Given the description of an element on the screen output the (x, y) to click on. 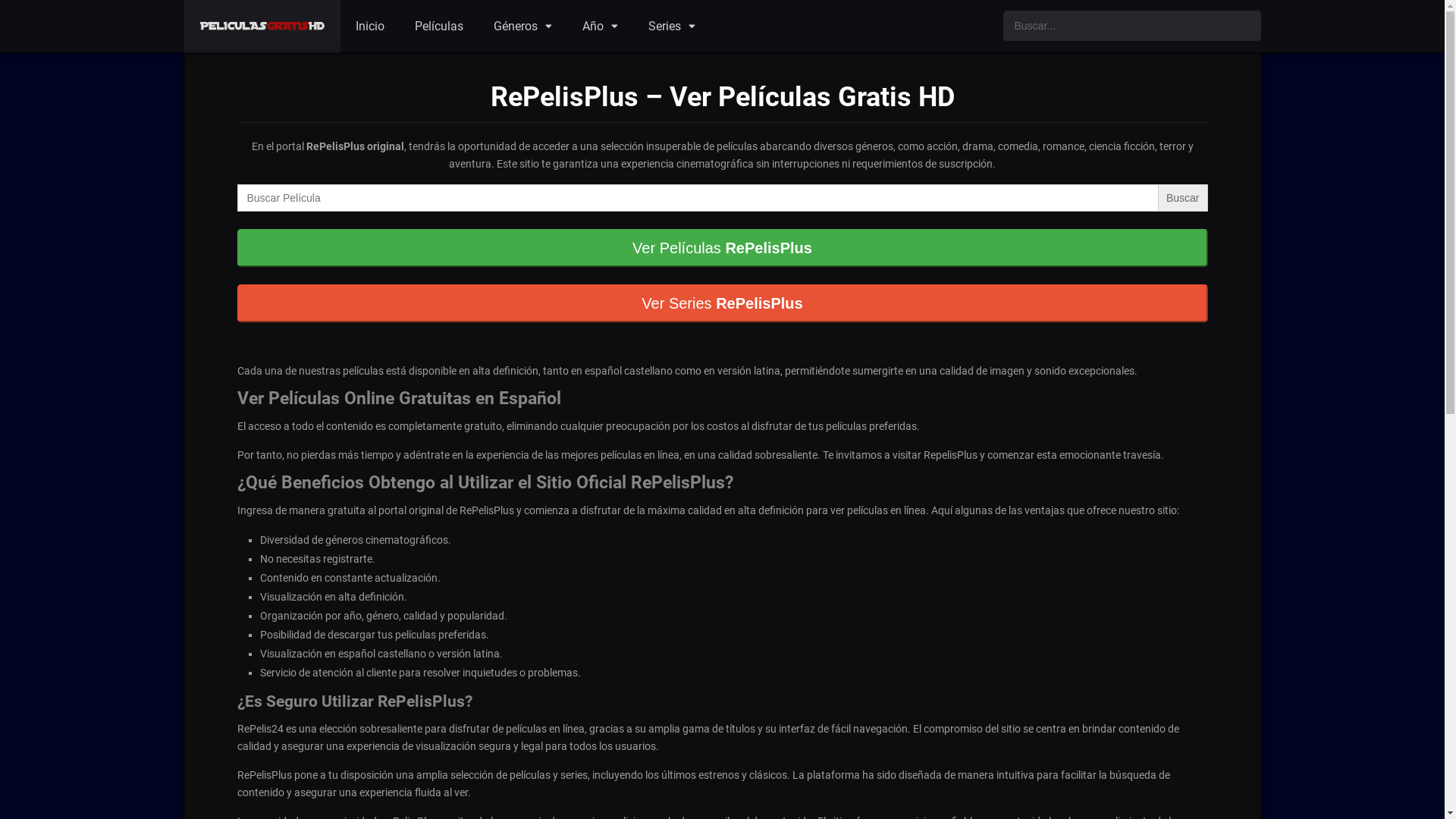
Series Element type: text (671, 26)
Ver Series RePelisPlus Element type: text (721, 310)
Ver Series RePelisPlus Element type: text (721, 303)
Inicio Element type: text (369, 26)
Buscar Element type: text (1182, 197)
